Given the description of an element on the screen output the (x, y) to click on. 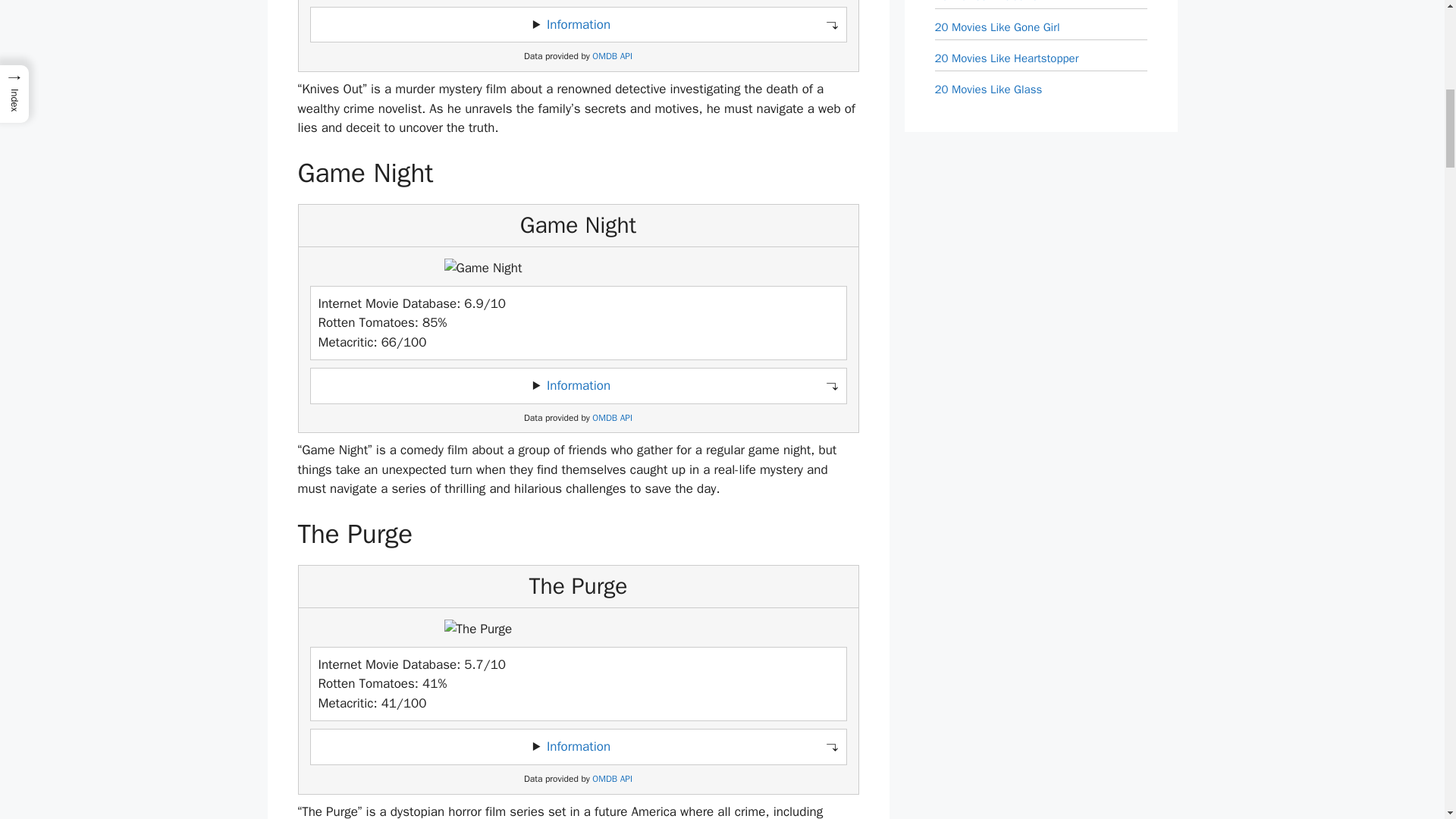
OMDB API (611, 418)
OMDB API (611, 56)
Open Movie Database API (611, 778)
Information (578, 746)
Open Movie Database API (611, 56)
Toggle information (578, 746)
Information (578, 24)
Information (578, 385)
Open Movie Database API (611, 418)
Toggle information (578, 24)
